Given the description of an element on the screen output the (x, y) to click on. 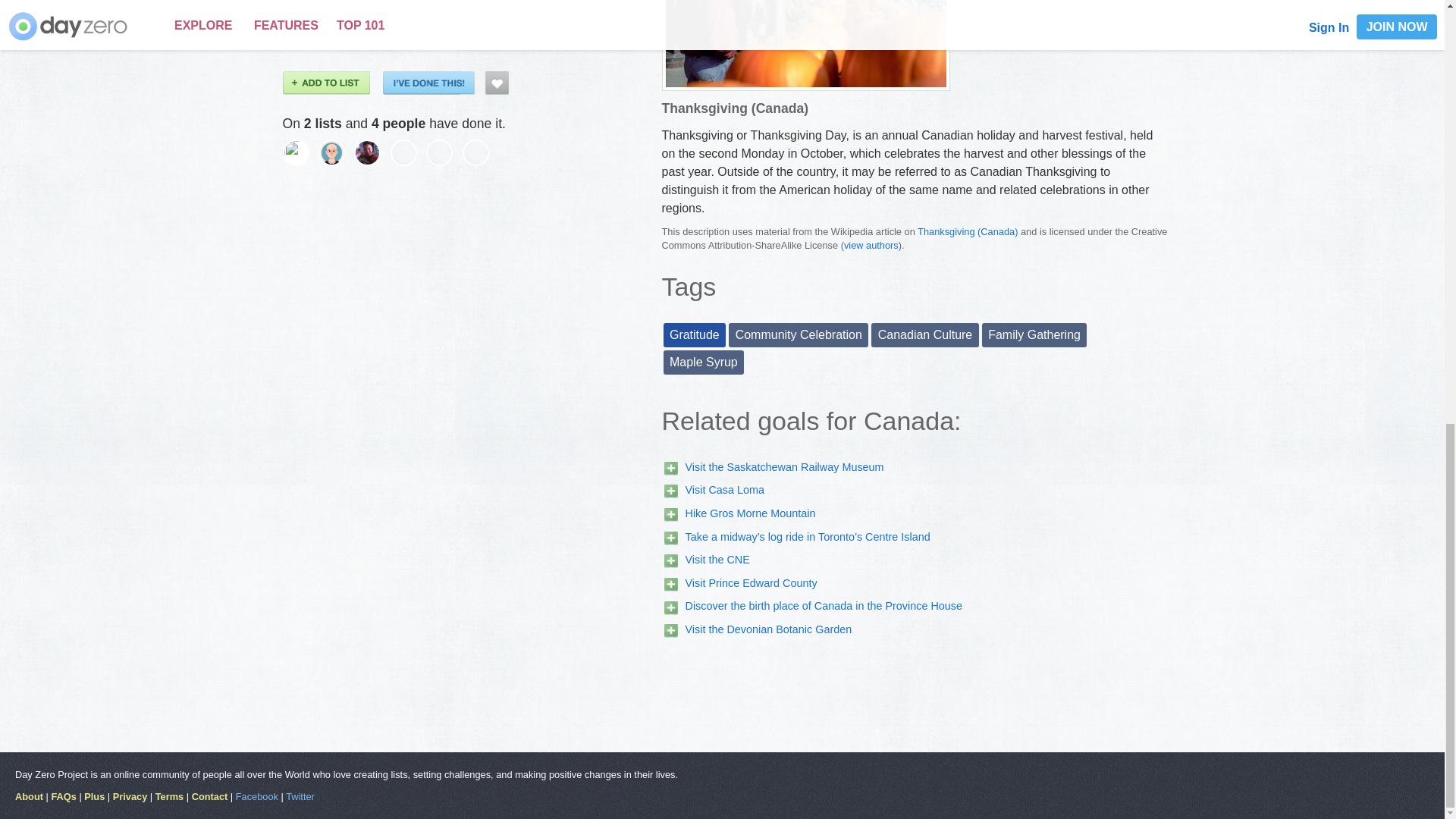
Visit Casa Loma (725, 490)
Visit the Saskatchewan Railway Museum (784, 467)
Hike Gros Morne Mountain (750, 512)
Visit the CNE (717, 559)
view authors (871, 244)
